Given the description of an element on the screen output the (x, y) to click on. 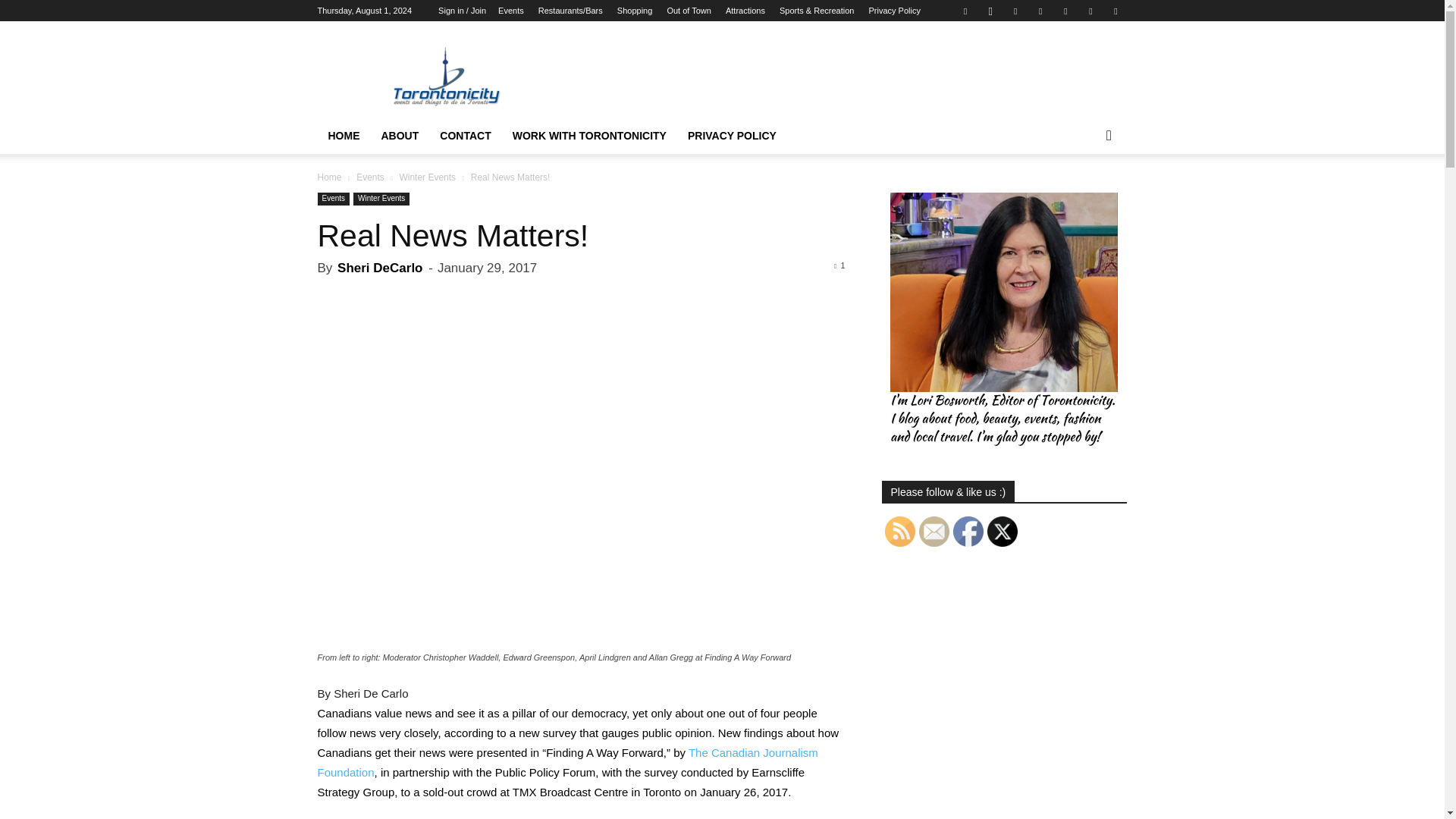
RSS (1065, 10)
Twitter (1090, 10)
Linkedin (1015, 10)
Out of Town (688, 10)
Events (510, 10)
Facebook (964, 10)
Instagram (989, 10)
Shopping (634, 10)
Pinterest (1040, 10)
